Given the description of an element on the screen output the (x, y) to click on. 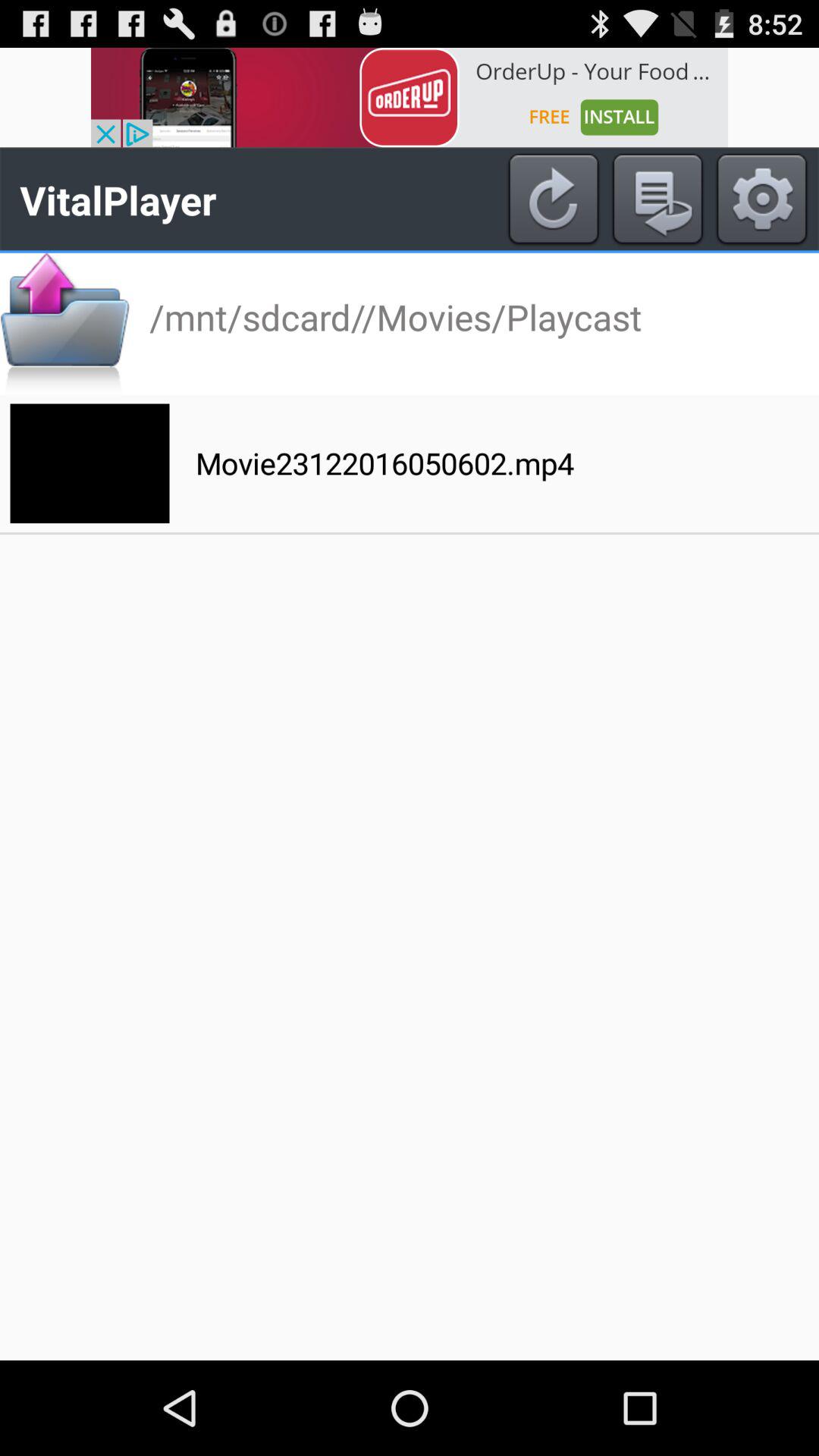
open settings (761, 199)
